Given the description of an element on the screen output the (x, y) to click on. 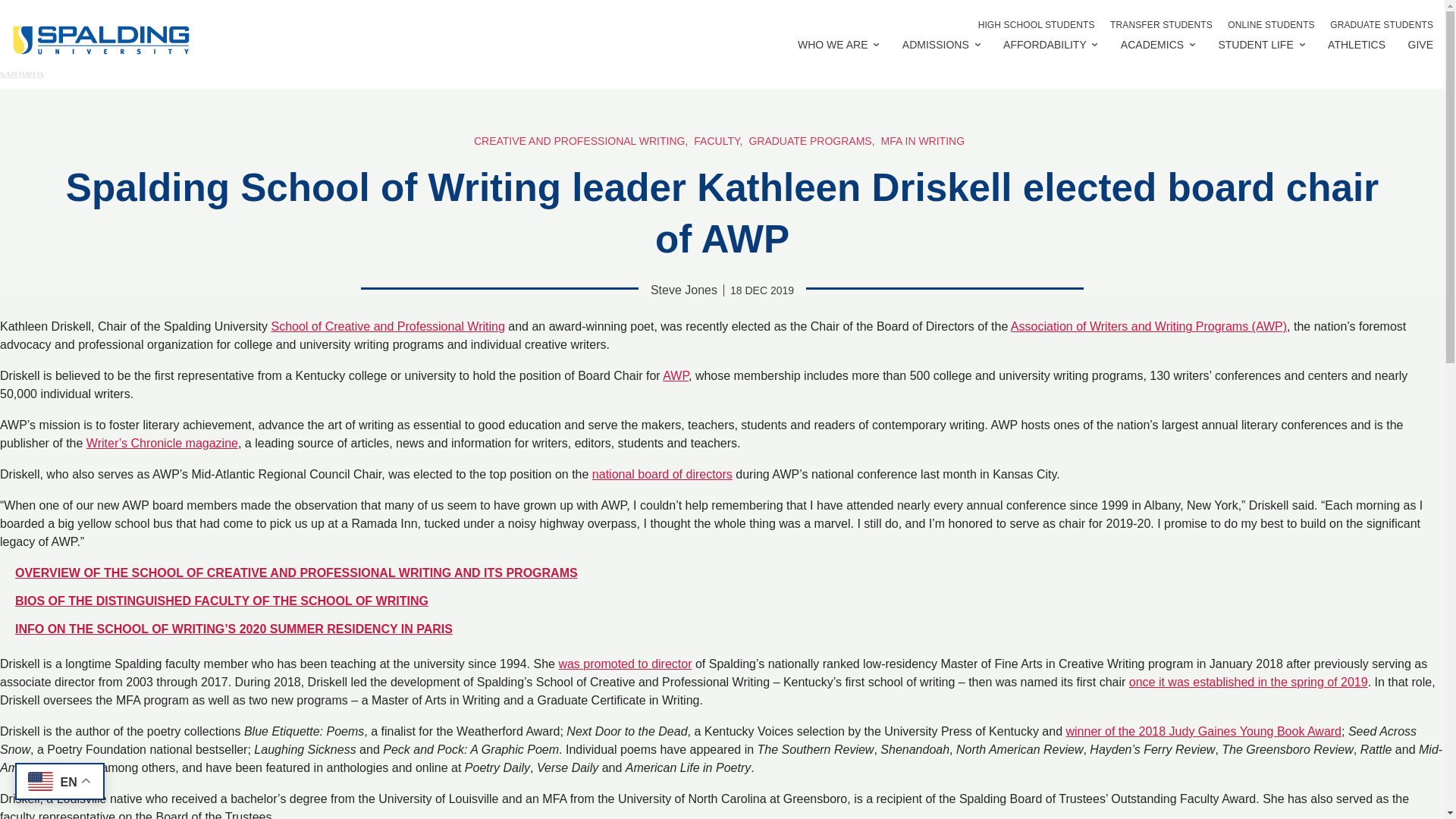
GRADUATE STUDENTS (1381, 24)
ONLINE STUDENTS (1270, 24)
Spalding (100, 39)
TRANSFER STUDENTS (1160, 24)
HIGH SCHOOL STUDENTS (1036, 24)
